Given the description of an element on the screen output the (x, y) to click on. 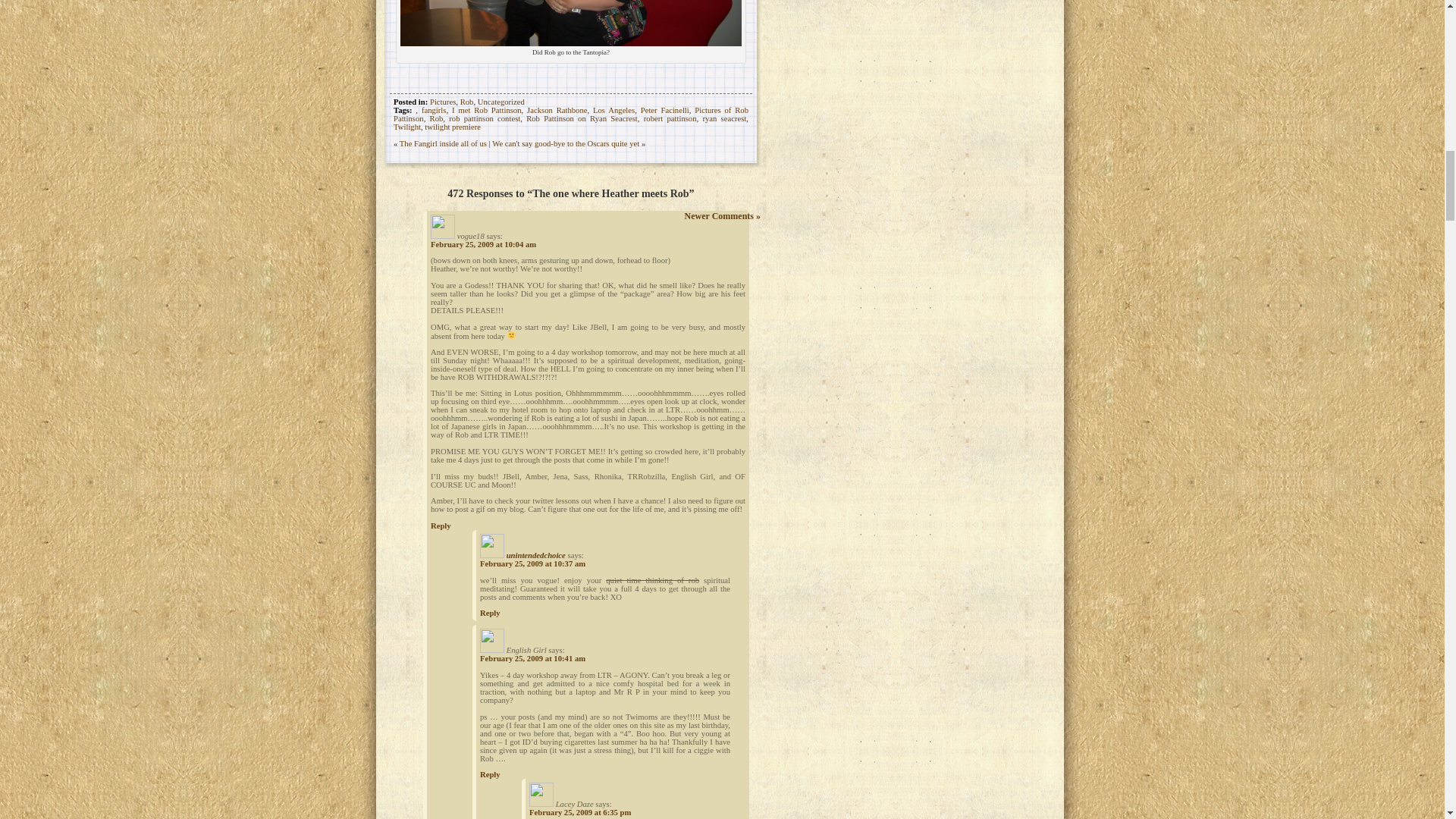
twilight premiere (452, 126)
Los Angeles (613, 110)
fangirls (434, 110)
ryan seacrest (723, 117)
Peter Facinelli (664, 110)
Pictures of Rob Pattinson (570, 114)
Rob (436, 117)
Rob (467, 101)
octnov2008-0362 (570, 22)
robert pattinson (670, 117)
Reply (440, 525)
I met Rob Pattinson (486, 110)
Reply (490, 774)
February 25, 2009 at 10:41 am (532, 658)
Rob Pattinson on Ryan Seacrest (581, 117)
